Given the description of an element on the screen output the (x, y) to click on. 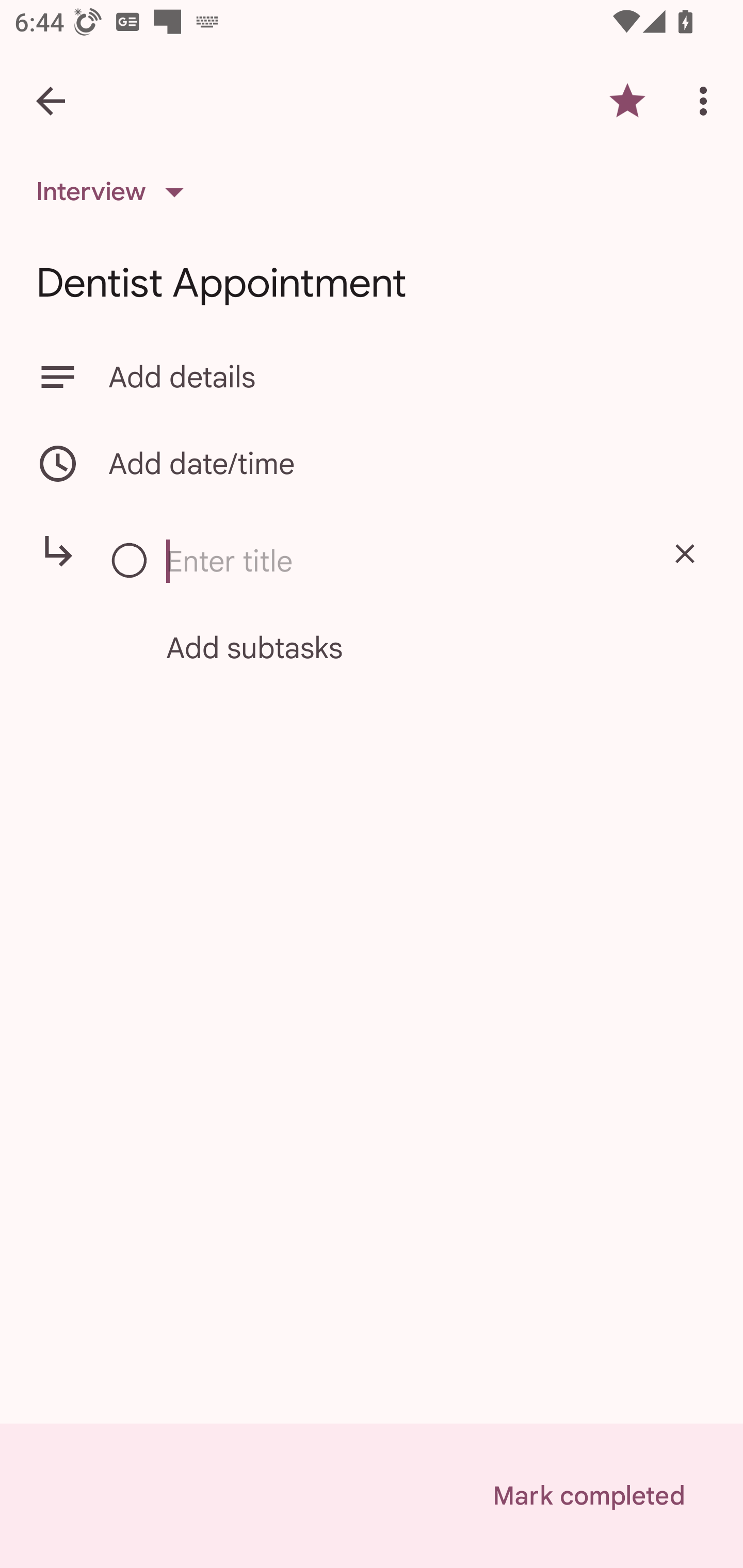
Back (50, 101)
Remove star (626, 101)
More options (706, 101)
Interview List, Interview selected, 1 of 4 (116, 191)
Dentist Appointment (371, 283)
Add details (371, 376)
Add details (407, 376)
Add date/time (371, 463)
Enter title (399, 561)
Delete subtask (684, 553)
Mark as complete (129, 561)
Add subtasks (392, 648)
Mark completed (588, 1495)
